Given the description of an element on the screen output the (x, y) to click on. 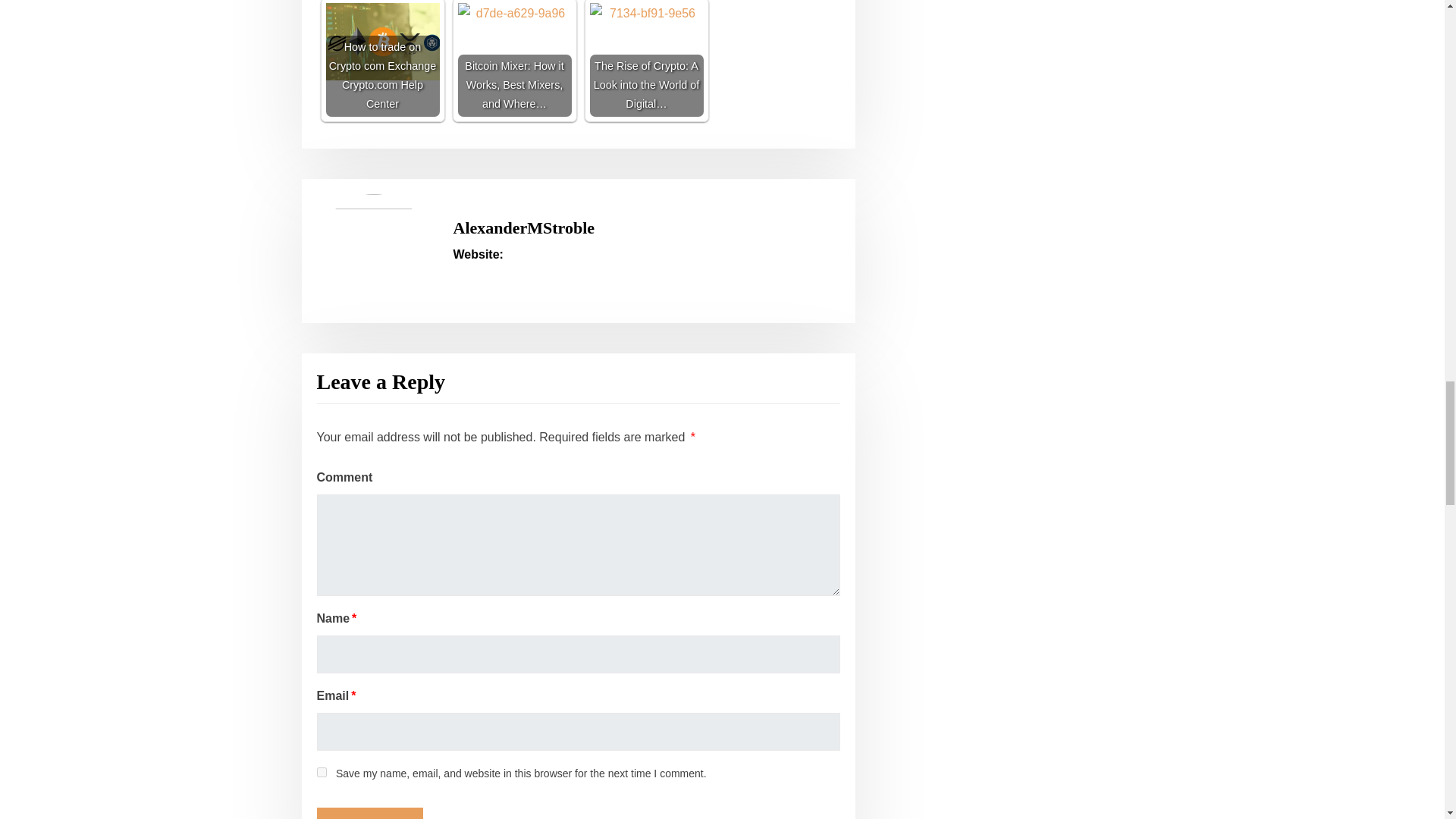
yes (321, 772)
How to trade on Crypto com Exchange Crypto.com Help Center (382, 41)
Submit (370, 813)
How to trade on Crypto com Exchange Crypto.com Help Center (382, 60)
Submit (370, 813)
